Given the description of an element on the screen output the (x, y) to click on. 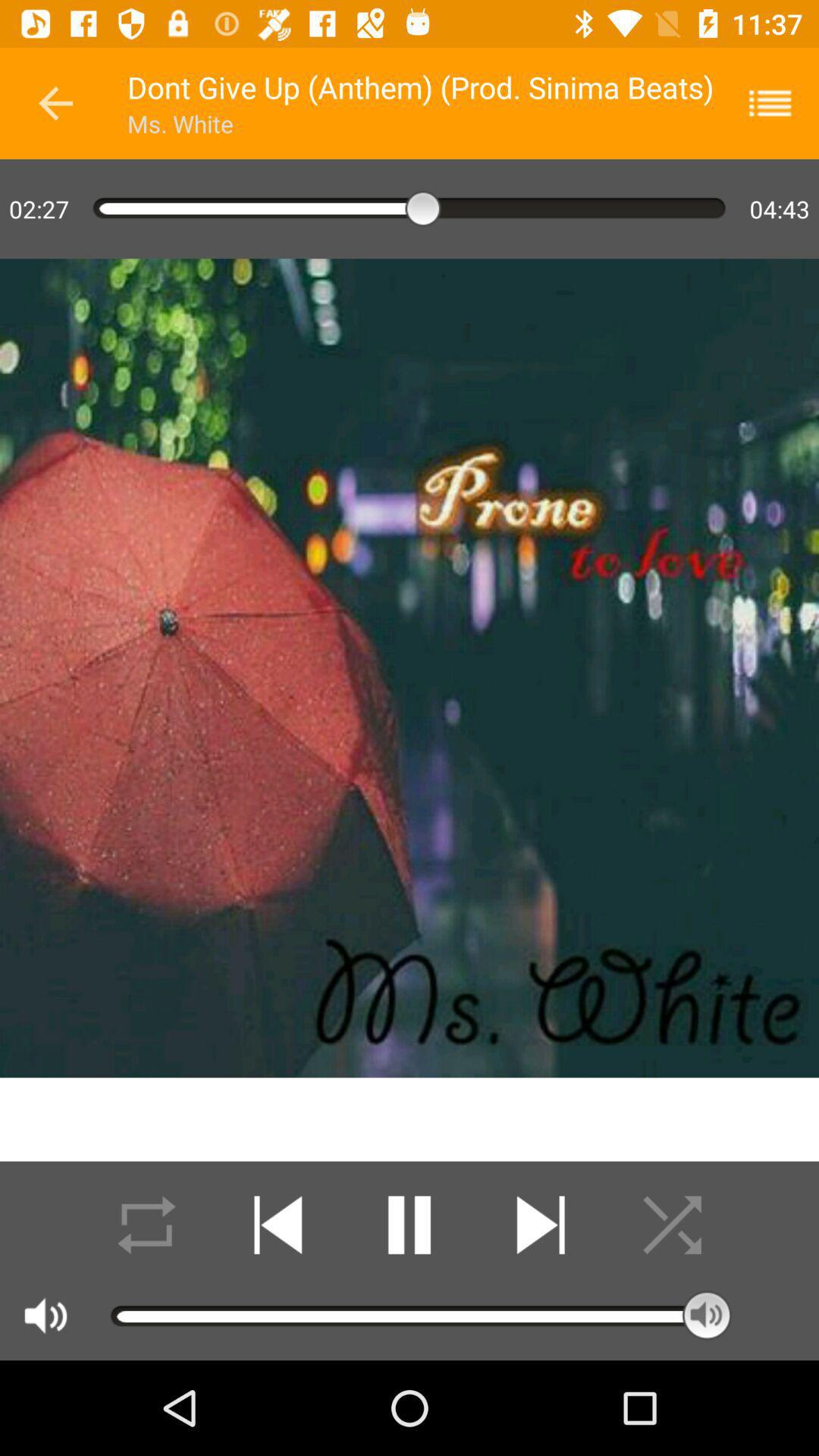
click the playback button on the web page (277, 1225)
